Given the description of an element on the screen output the (x, y) to click on. 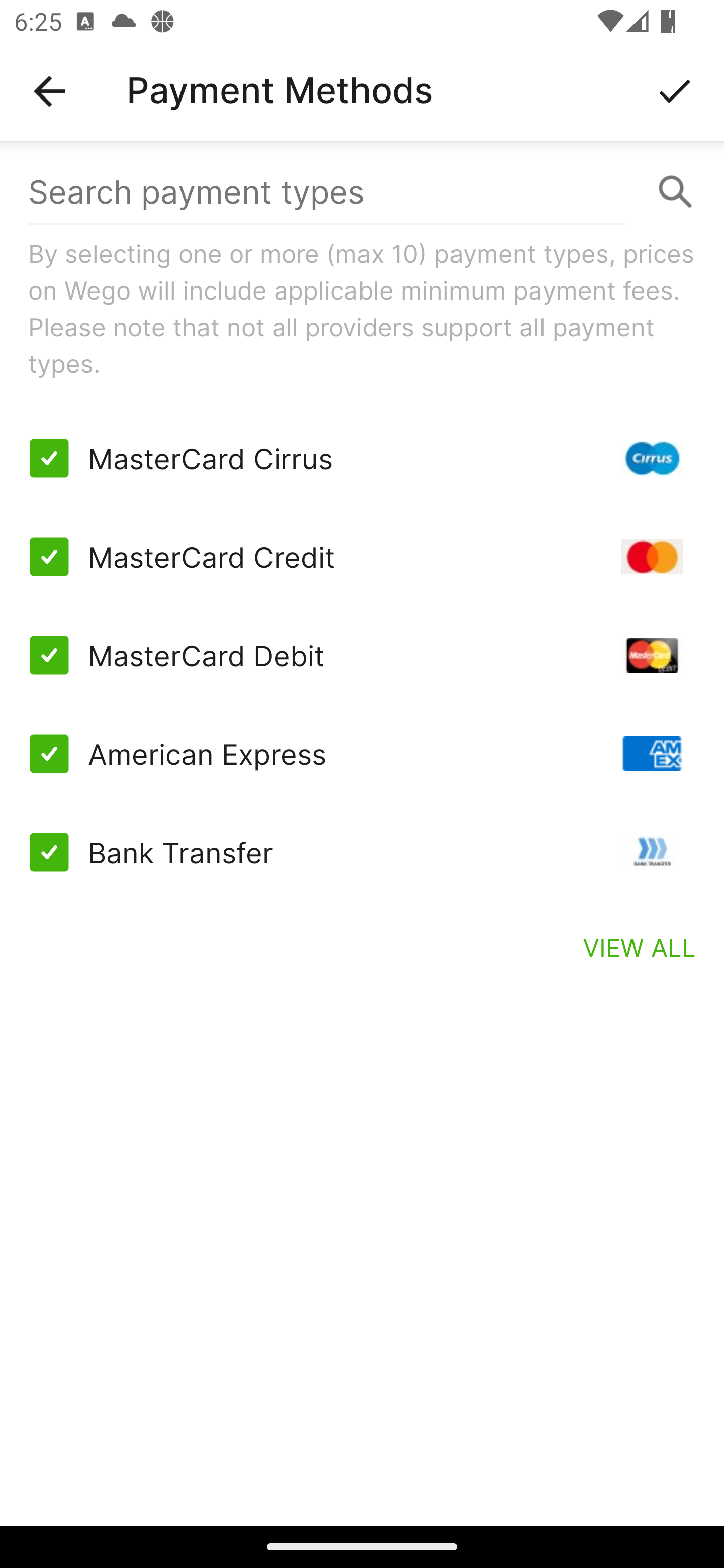
Search payment types  (361, 191)
MasterCard Cirrus (362, 458)
MasterCard Credit (362, 557)
MasterCard Debit (362, 655)
American Express (362, 753)
Bank Transfer (362, 851)
VIEW ALL (639, 946)
